Given the description of an element on the screen output the (x, y) to click on. 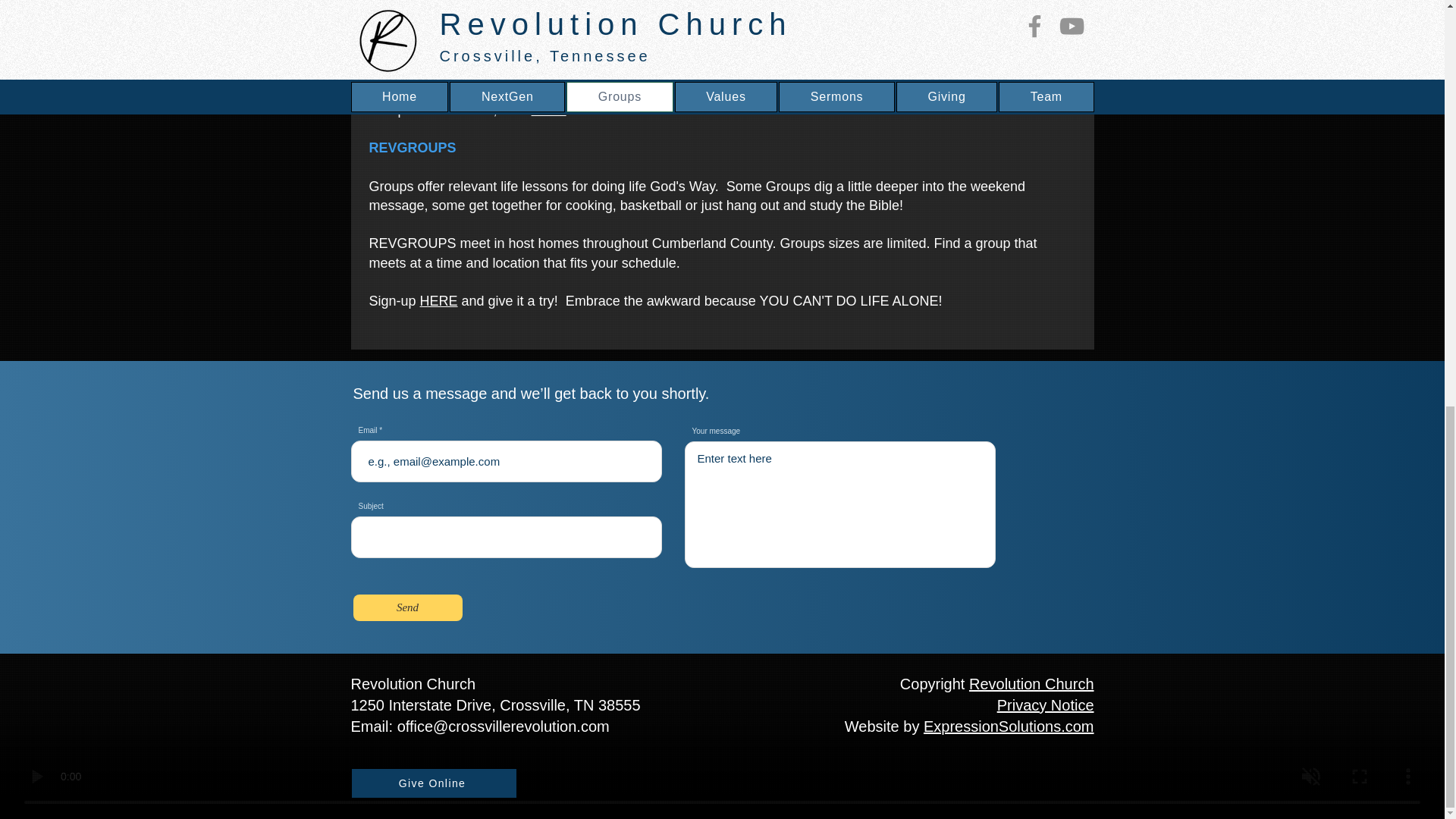
here.  (548, 109)
Send (408, 606)
Give Online (433, 783)
Privacy Notice (1045, 704)
ExpressionSolutions.com (1008, 726)
HERE (439, 300)
Revolution Church (1031, 683)
